Given the description of an element on the screen output the (x, y) to click on. 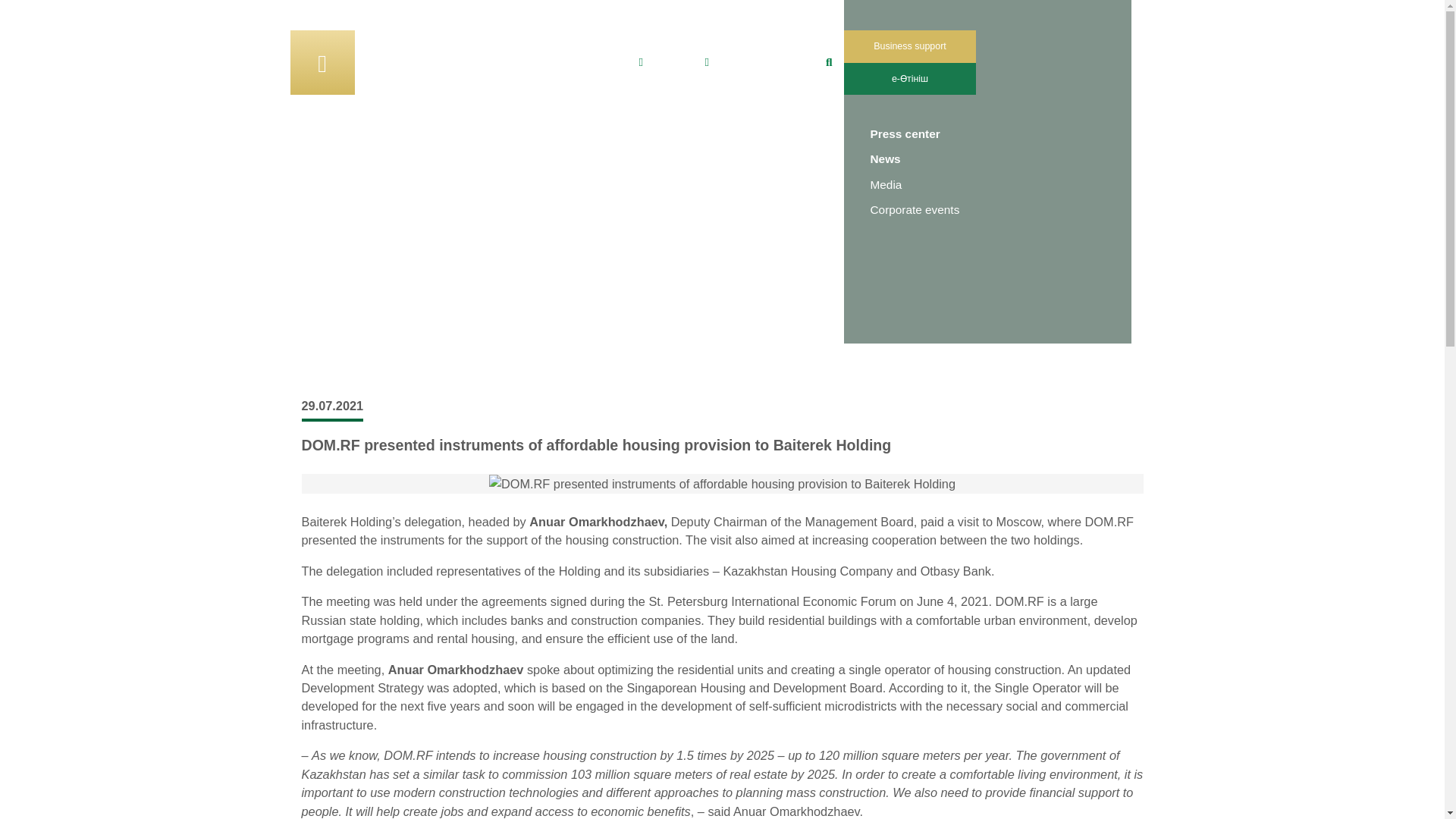
Hotline (662, 61)
Hotline (662, 61)
Corporate events (914, 209)
Eng (304, 171)
Press center (905, 133)
Media (886, 183)
Question-answer (755, 61)
Business support (909, 46)
News (885, 158)
Press center (394, 281)
